Given the description of an element on the screen output the (x, y) to click on. 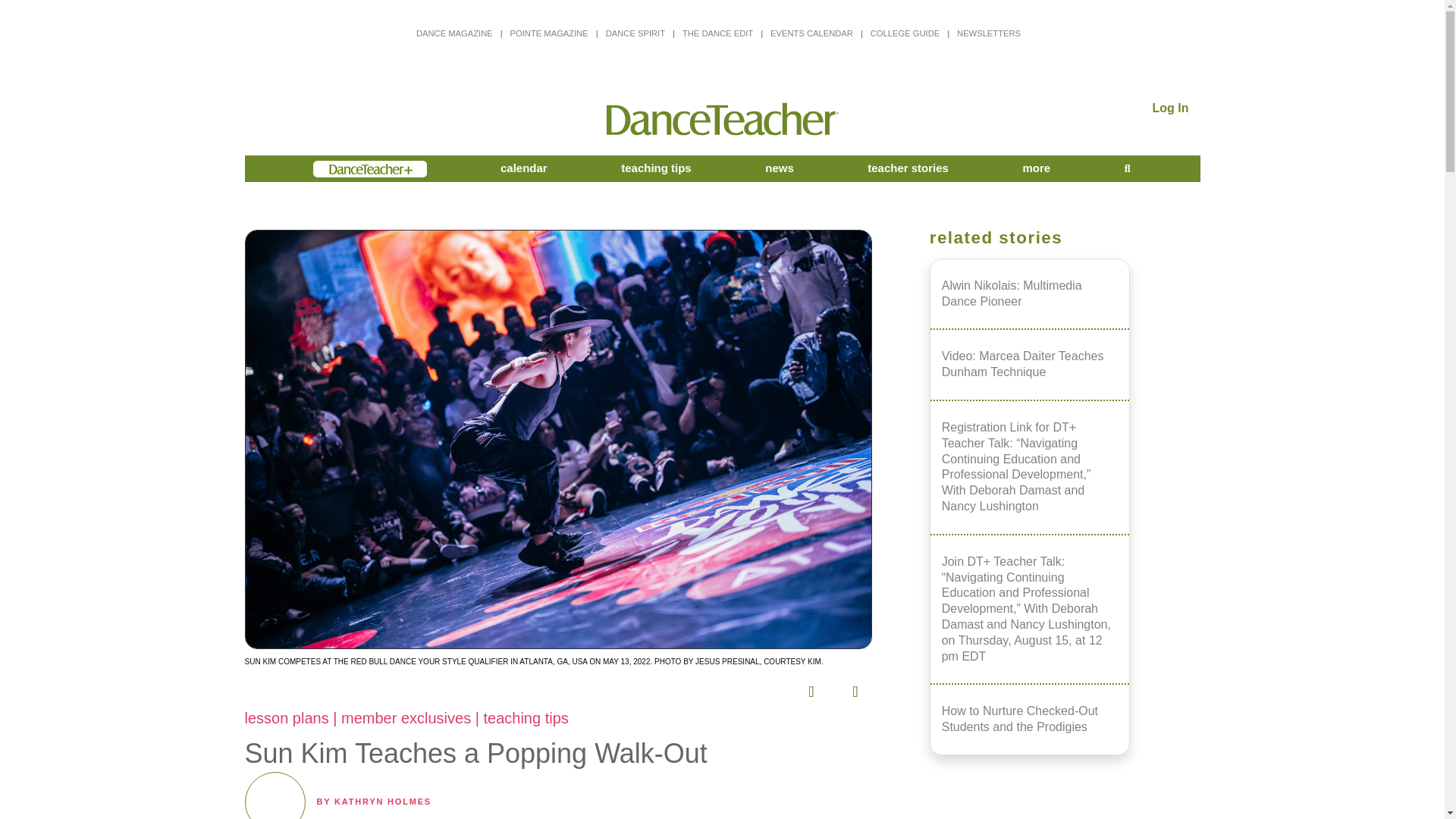
teacher stories (908, 168)
Follow on Twitter (676, 687)
DANCE SPIRIT (635, 32)
Follow on Facebook (633, 687)
teaching tips (656, 168)
Video: Marcea Daiter Teaches Dunham Technique (1029, 363)
How to Nurture Checked-Out Students and the Prodigies (1029, 718)
Follow on LinkedIn (764, 687)
THE DANCE EDIT (717, 32)
Log In (1171, 107)
